Given the description of an element on the screen output the (x, y) to click on. 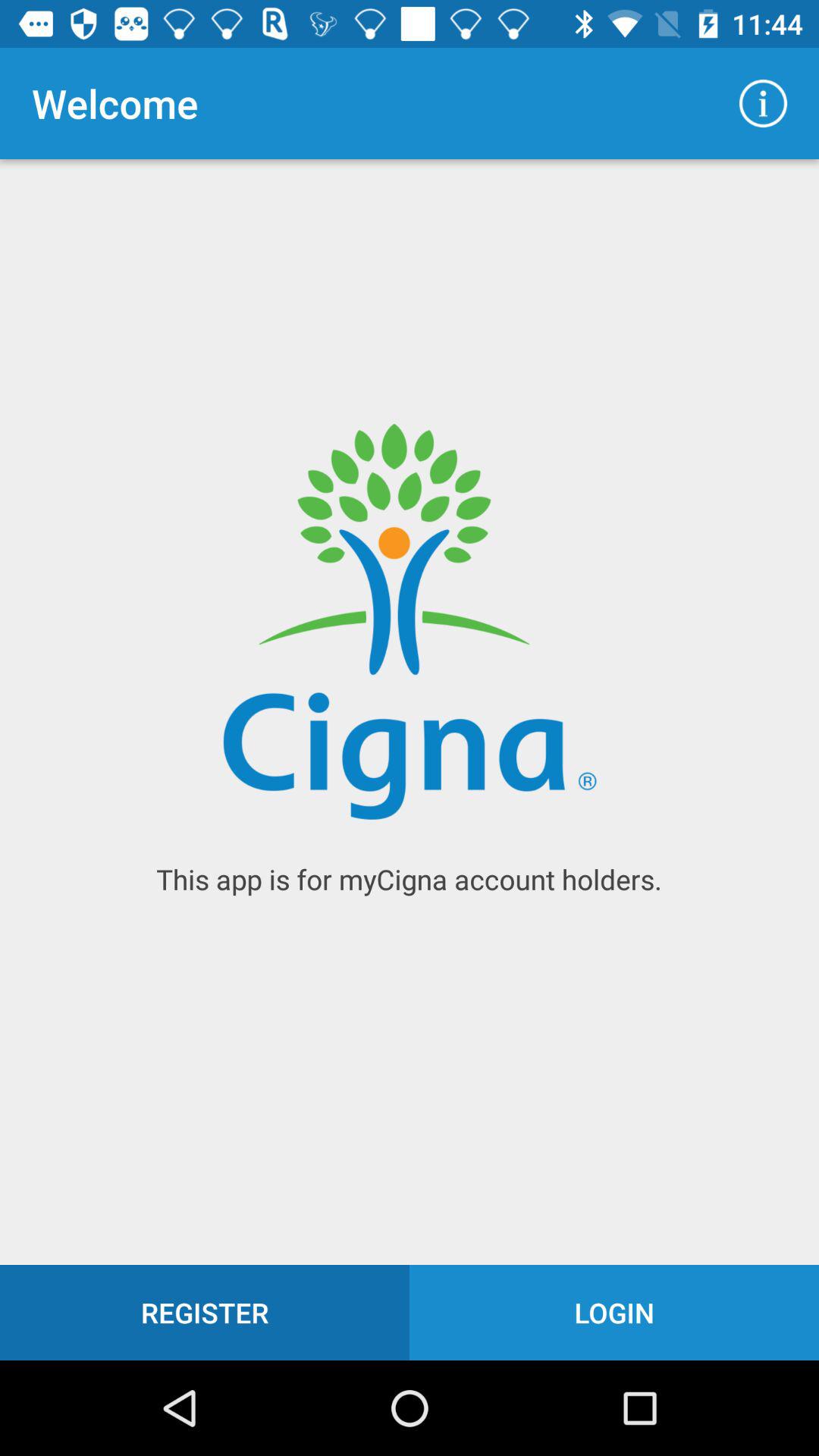
turn off the icon at the bottom right corner (614, 1312)
